Given the description of an element on the screen output the (x, y) to click on. 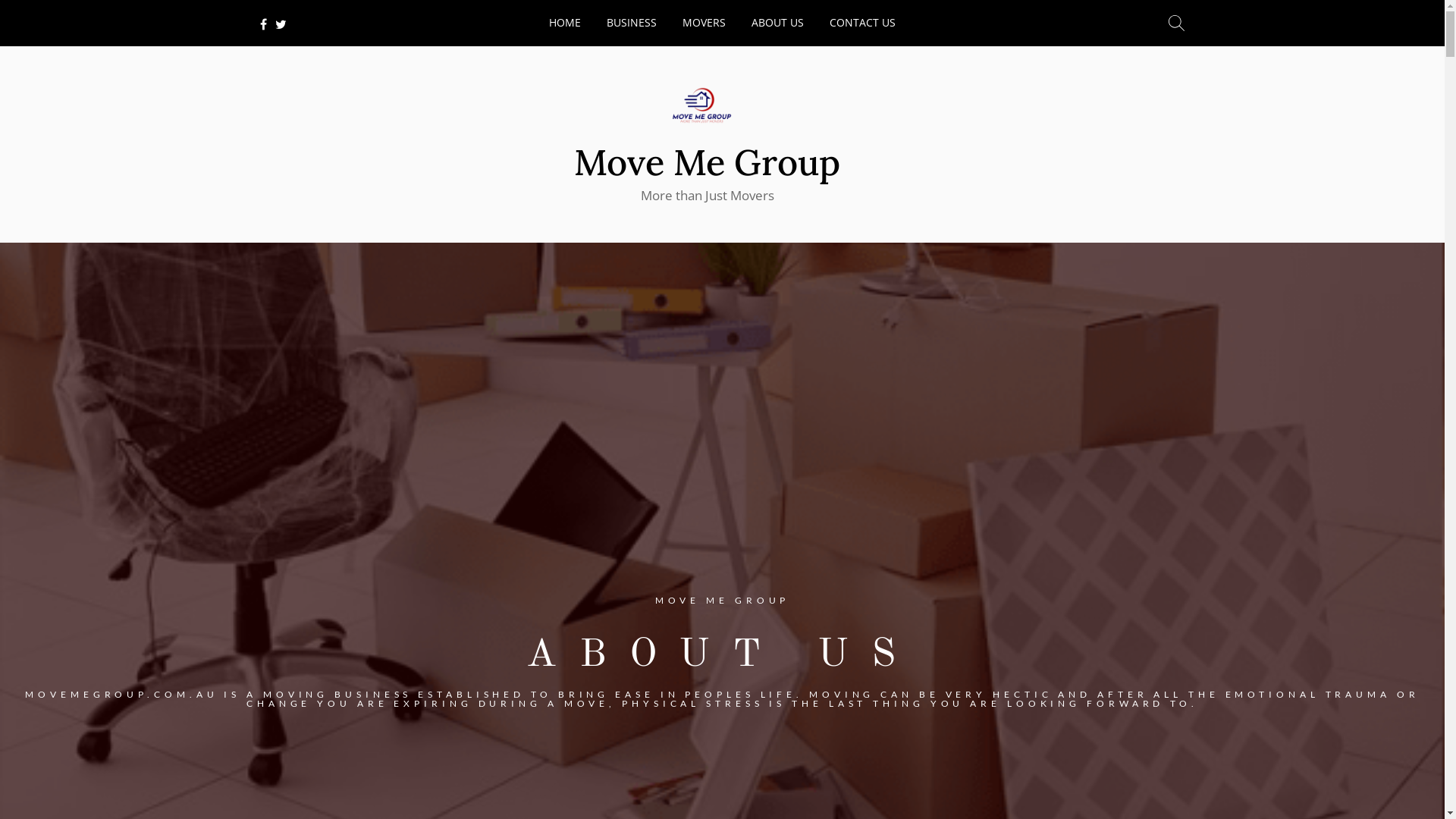
ABOUT US Element type: text (777, 20)
HOME Element type: text (564, 20)
MOVERS Element type: text (704, 20)
Search Element type: text (1176, 22)
Move Me Group Element type: text (707, 162)
CONTACT US Element type: text (862, 20)
BUSINESS Element type: text (631, 20)
